Given the description of an element on the screen output the (x, y) to click on. 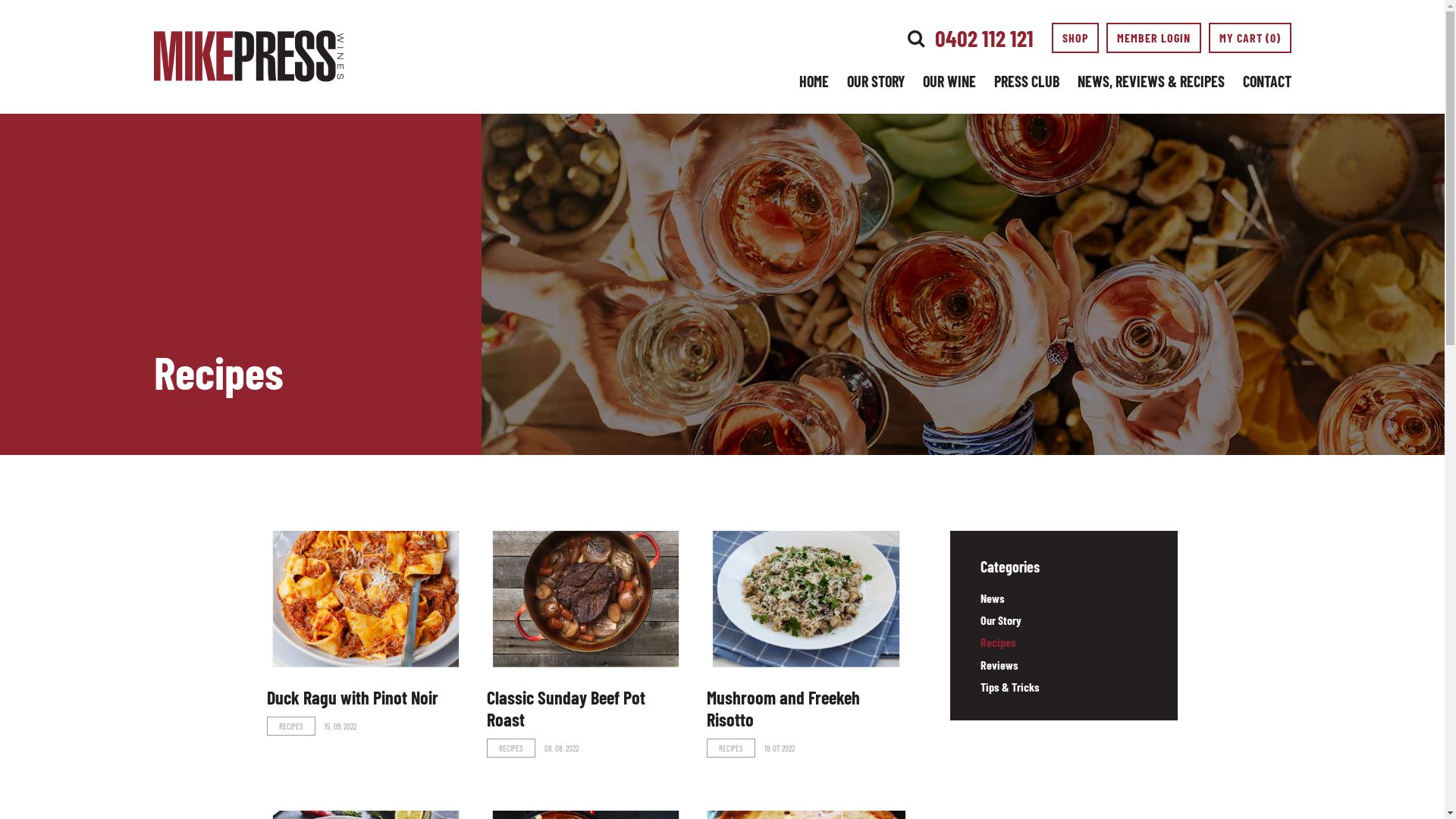
Our Story Element type: text (999, 619)
PRESS CLUB Element type: text (1025, 81)
OUR STORY Element type: text (874, 81)
Recipes Element type: text (997, 641)
NEWS, REVIEWS & RECIPES Element type: text (1149, 81)
OUR WINE Element type: text (948, 81)
SHOP Element type: text (1074, 37)
Reviews Element type: text (998, 664)
RECIPES Element type: text (730, 747)
RECIPES Element type: text (290, 725)
Classic Sunday Beef Pot Roast Element type: text (565, 708)
Duck Ragu with Pinot Noir Element type: text (352, 697)
0402 112 121 Element type: text (983, 37)
MEMBER LOGIN Element type: text (1152, 37)
MY CART (0) Element type: text (1249, 37)
RECIPES Element type: text (510, 747)
News Element type: text (991, 597)
CONTACT Element type: text (1266, 81)
Tips & Tricks Element type: text (1008, 686)
Mushroom and Freekeh Risotto Element type: text (782, 708)
HOME Element type: text (813, 81)
